Given the description of an element on the screen output the (x, y) to click on. 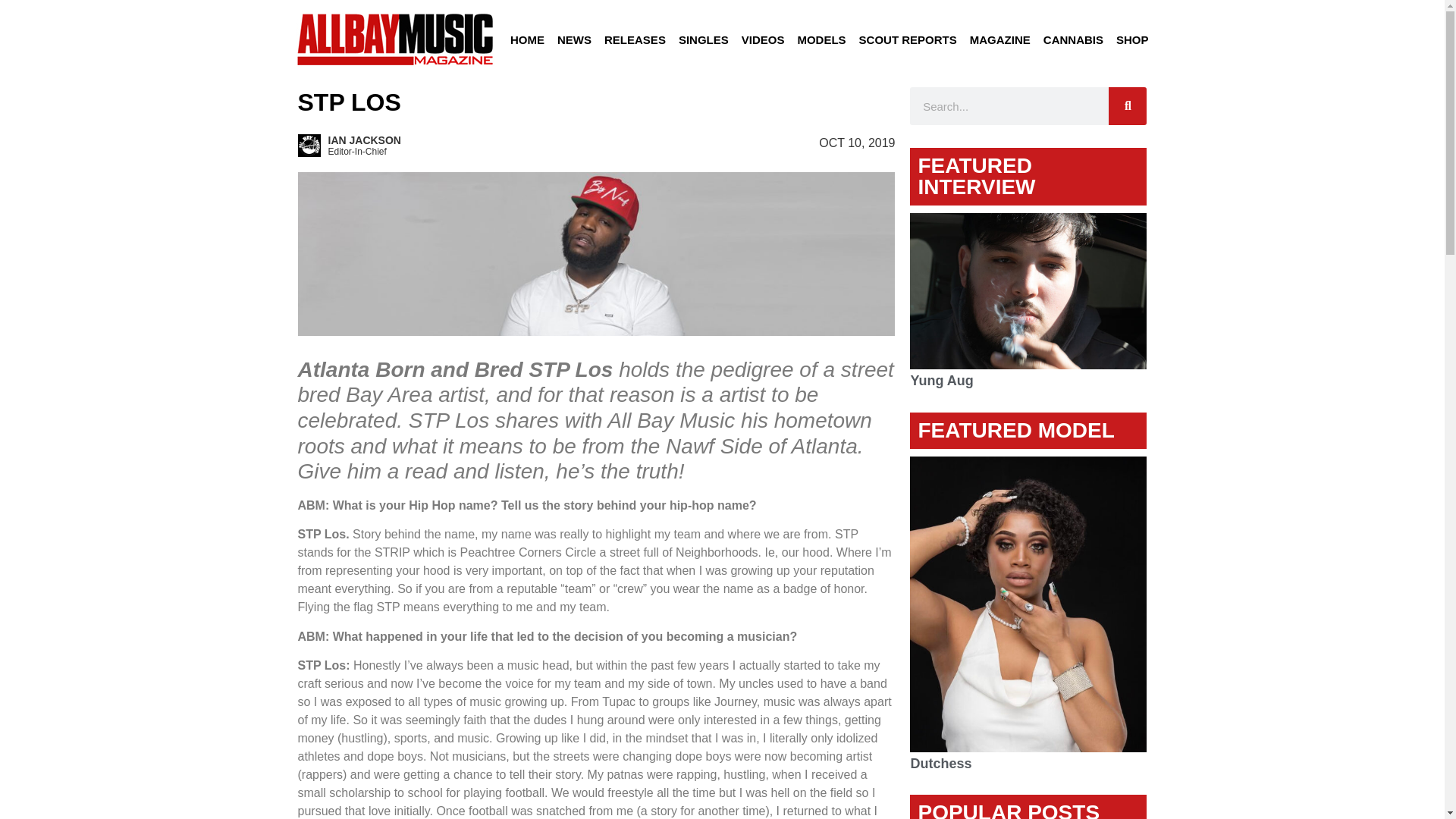
RELEASES (634, 39)
HOME (526, 39)
MODELS (820, 39)
SCOUT REPORTS (907, 39)
VIDEOS (762, 39)
SINGLES (703, 39)
SHOP (1131, 39)
MAGAZINE (999, 39)
NEWS (573, 39)
CANNABIS (1072, 39)
